Given the description of an element on the screen output the (x, y) to click on. 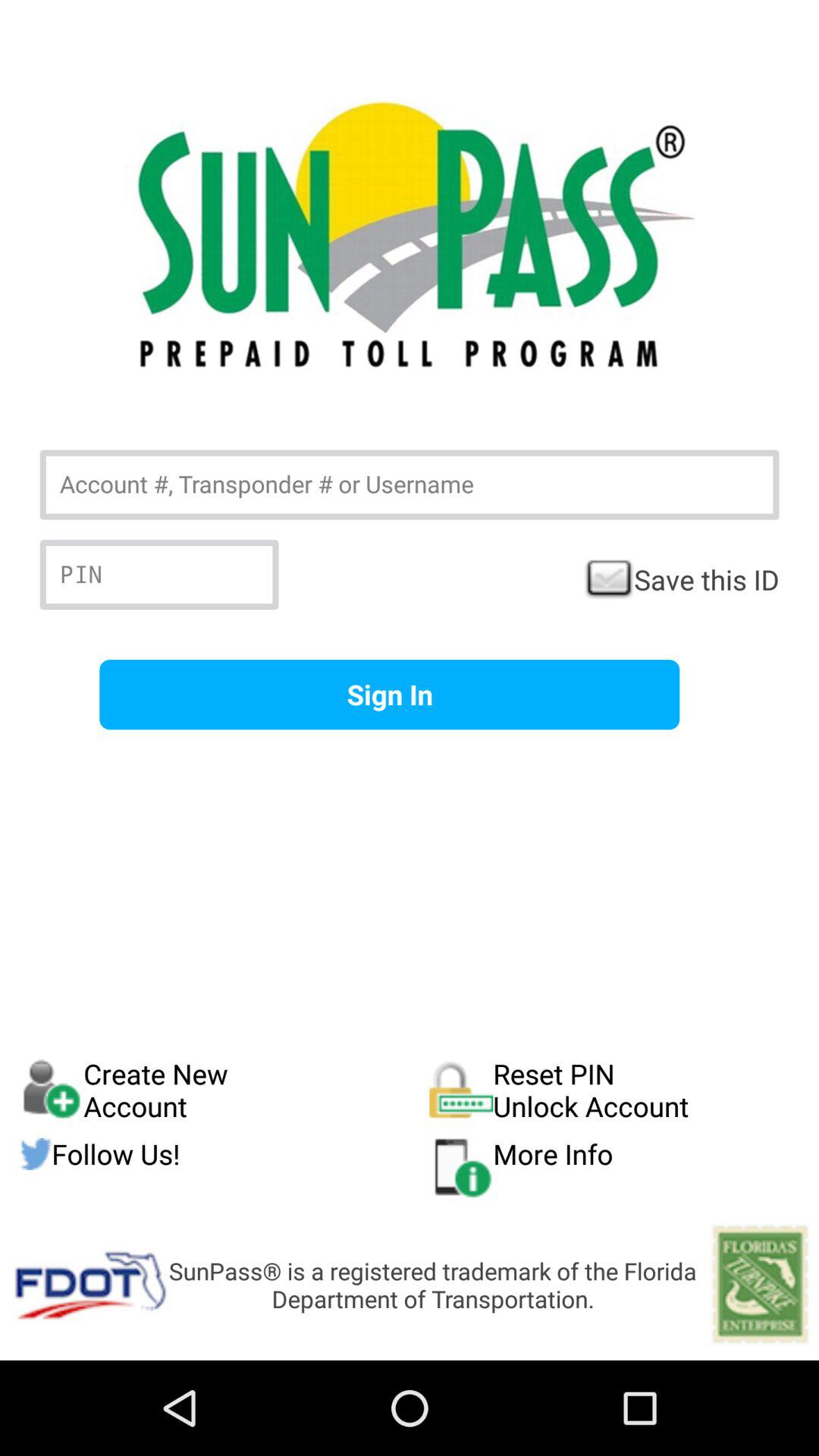
scroll to follow us! item (224, 1153)
